Given the description of an element on the screen output the (x, y) to click on. 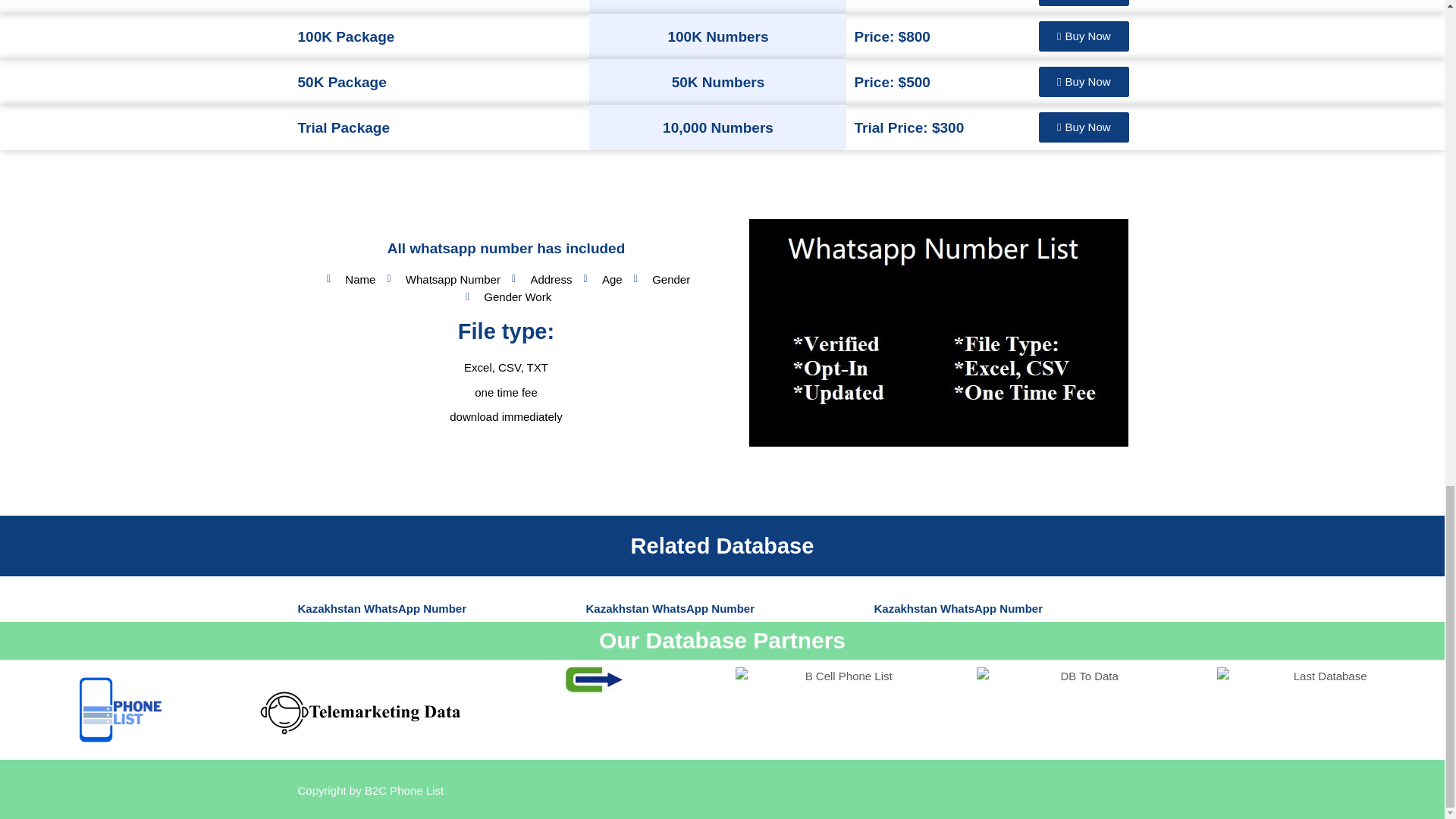
Buy Now (1084, 2)
Buy Now (1084, 81)
B2C Phone List (404, 789)
Buy Now (1084, 36)
Kazakhstan WhatsApp Number (381, 608)
Kazakhstan WhatsApp Number (957, 608)
Buy Now (1084, 127)
Kazakhstan WhatsApp Number (669, 608)
